Given the description of an element on the screen output the (x, y) to click on. 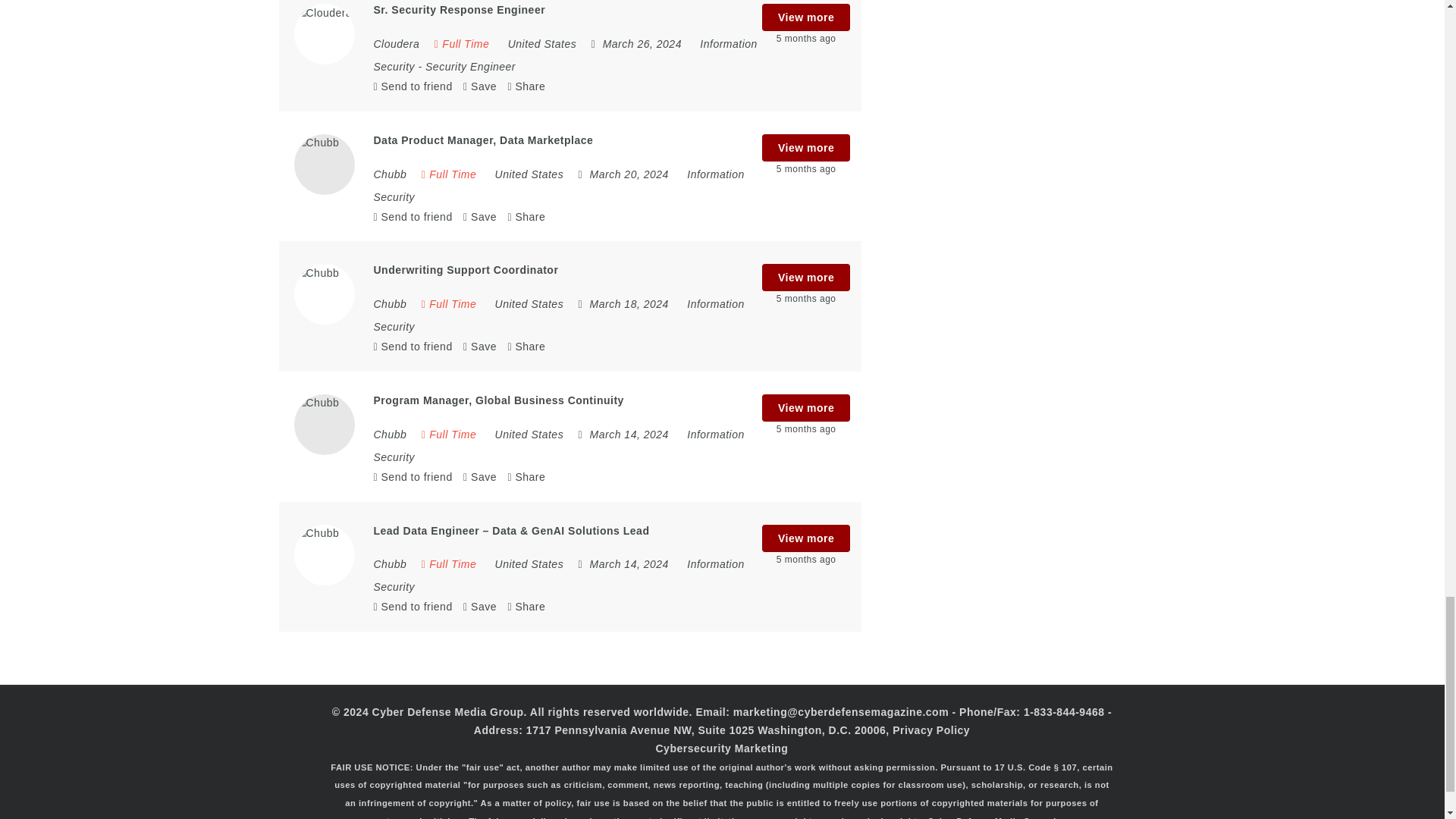
Permanent link to: "Data Product Manager, Data Marketplace" (482, 140)
Information Security (564, 54)
United States (542, 43)
Sr. Security Response Engineer (458, 9)
Permanent link to: "Sr. Security Response Engineer" (458, 9)
Cloudera (395, 43)
Security Engineer (470, 66)
Full Time (461, 43)
